Given the description of an element on the screen output the (x, y) to click on. 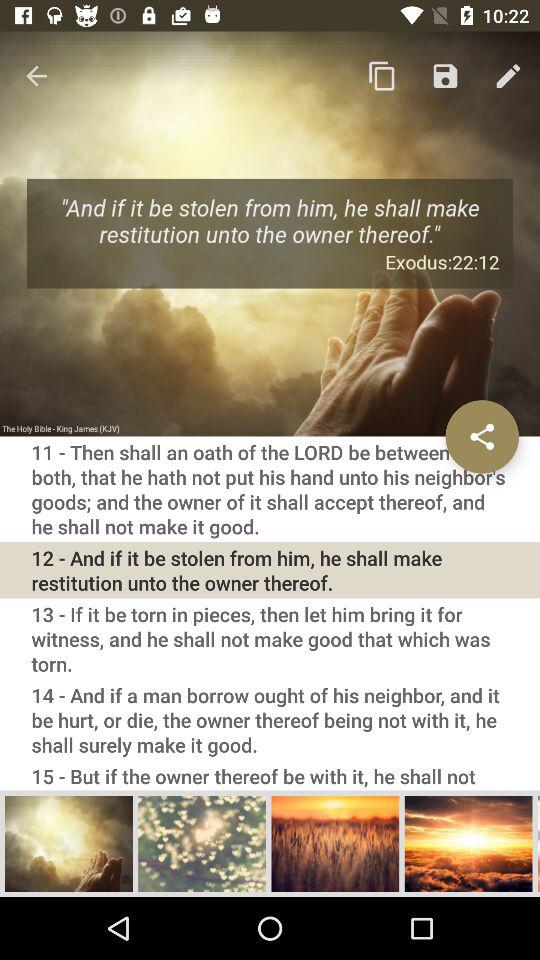
select the particular image (335, 843)
